Given the description of an element on the screen output the (x, y) to click on. 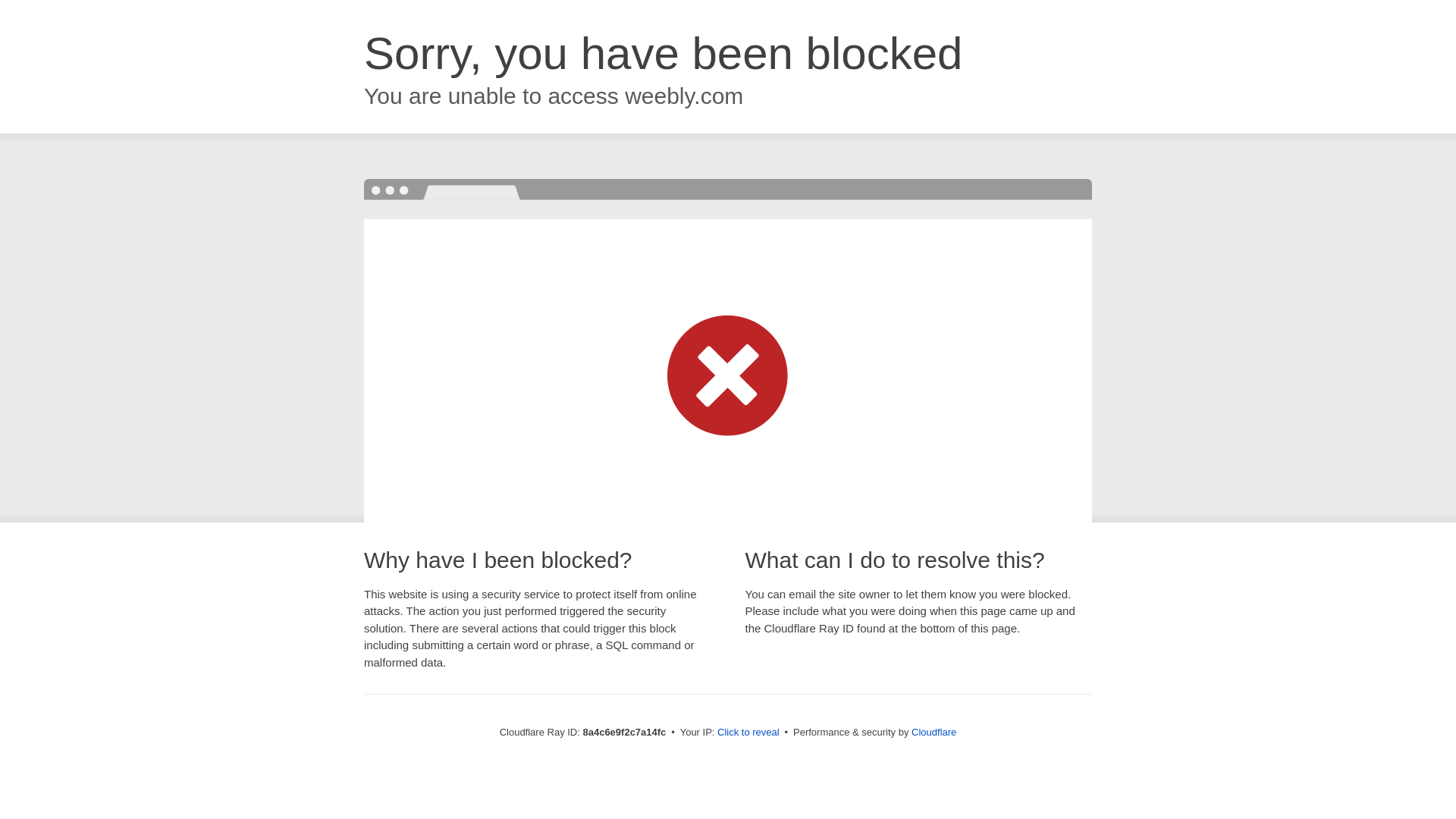
Click to reveal (747, 732)
Cloudflare (933, 731)
